Given the description of an element on the screen output the (x, y) to click on. 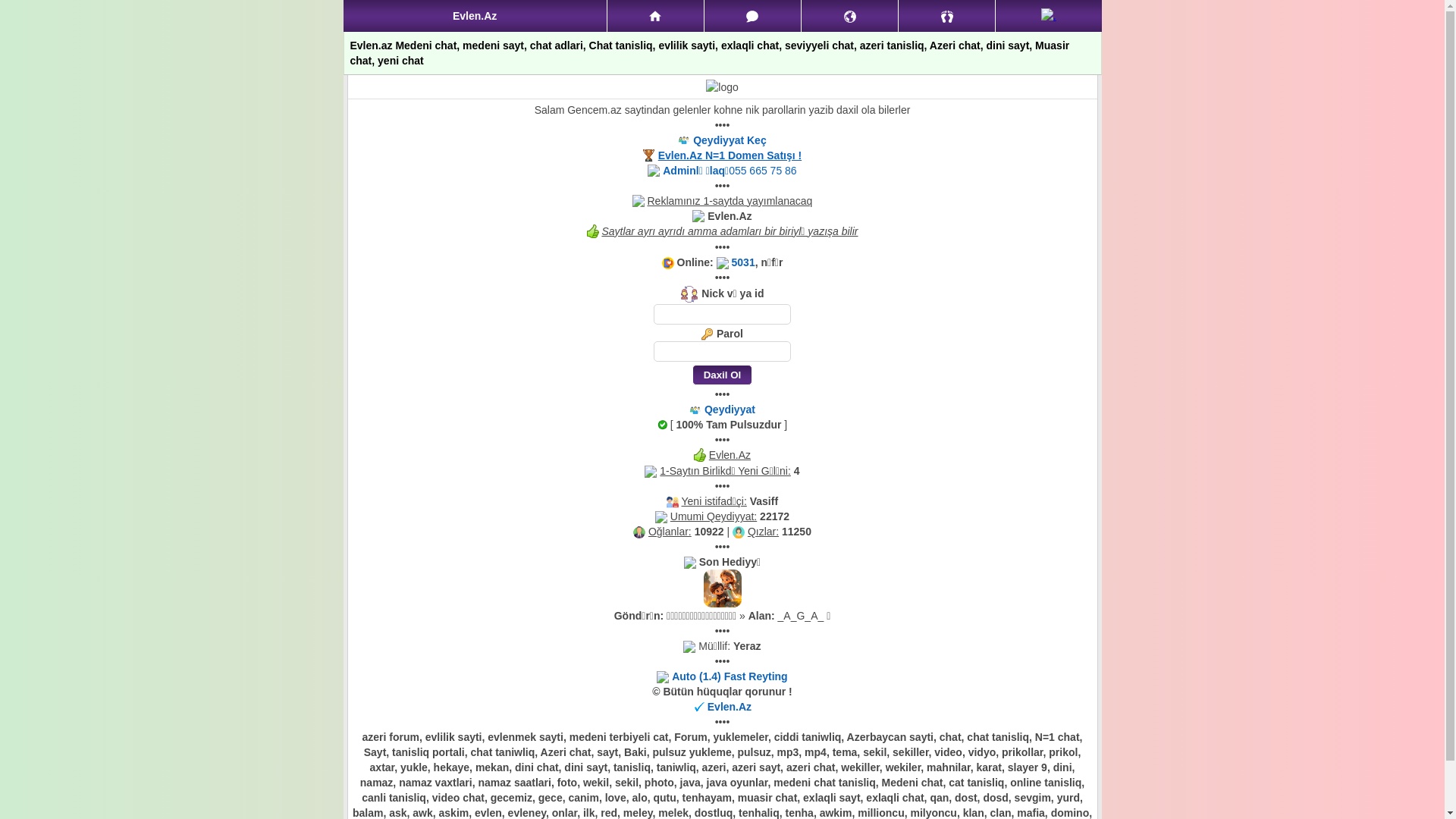
Evlen.Az Element type: text (729, 706)
Qeydiyyat Element type: text (729, 409)
Daxil Ol Element type: text (721, 374)
Qonaqlar Element type: hover (946, 15)
Auto (1.4) Fast Reyting Element type: text (729, 676)
Qeydiyyat Element type: hover (1048, 15)
nick Element type: hover (721, 314)
5031 Element type: text (743, 262)
Bildirisler Element type: hover (849, 15)
Parol Element type: hover (721, 351)
Mesajlar Element type: hover (752, 15)
